Given the description of an element on the screen output the (x, y) to click on. 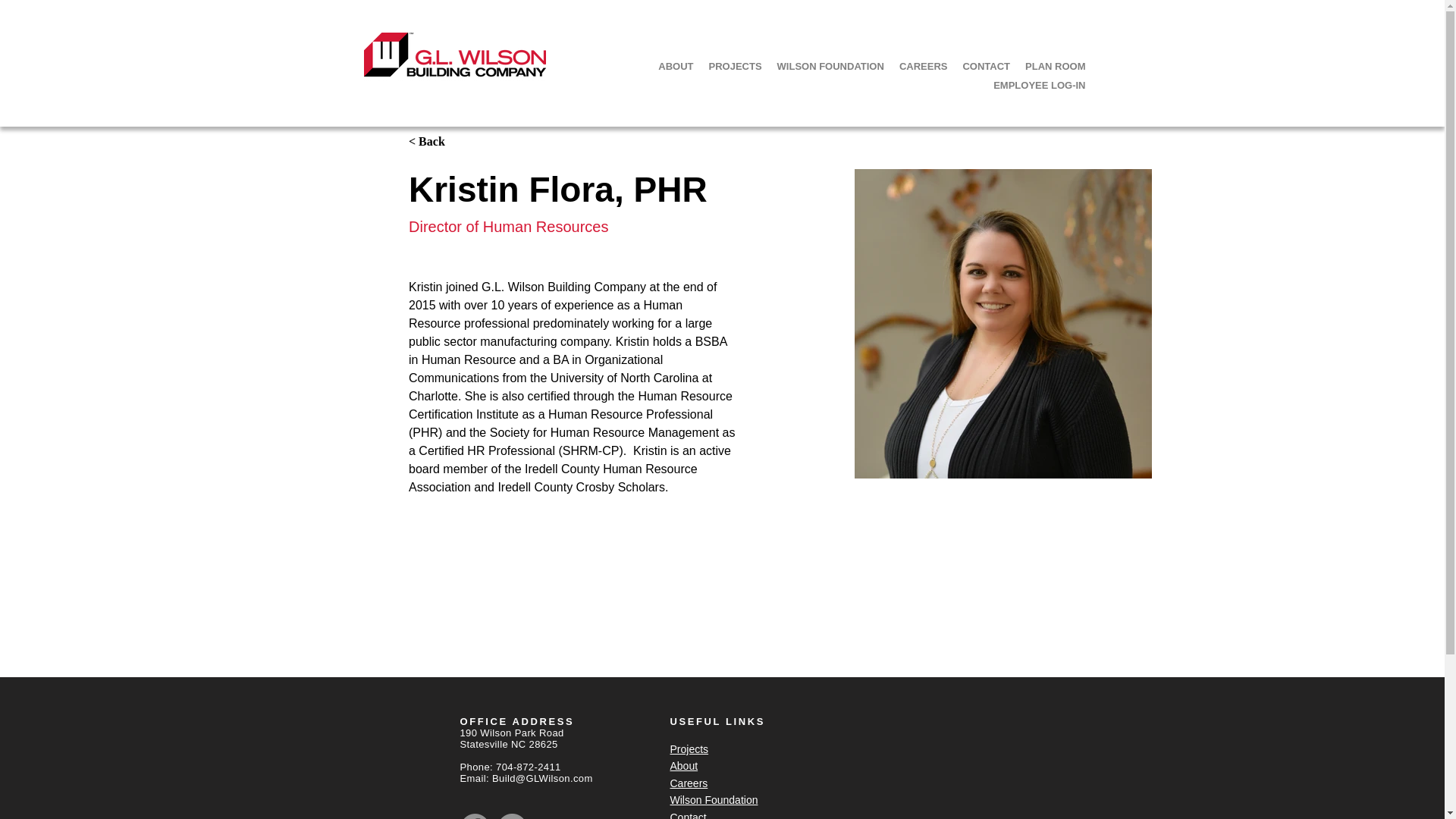
EMPLOYEE LOG-IN (1039, 85)
Projects (689, 748)
Wilson Foundation (713, 799)
Careers (688, 783)
PROJECTS (734, 66)
PLAN ROOM (1055, 66)
Contact (687, 815)
WILSON FOUNDATION (830, 66)
CONTACT (986, 66)
CAREERS (923, 66)
